Given the description of an element on the screen output the (x, y) to click on. 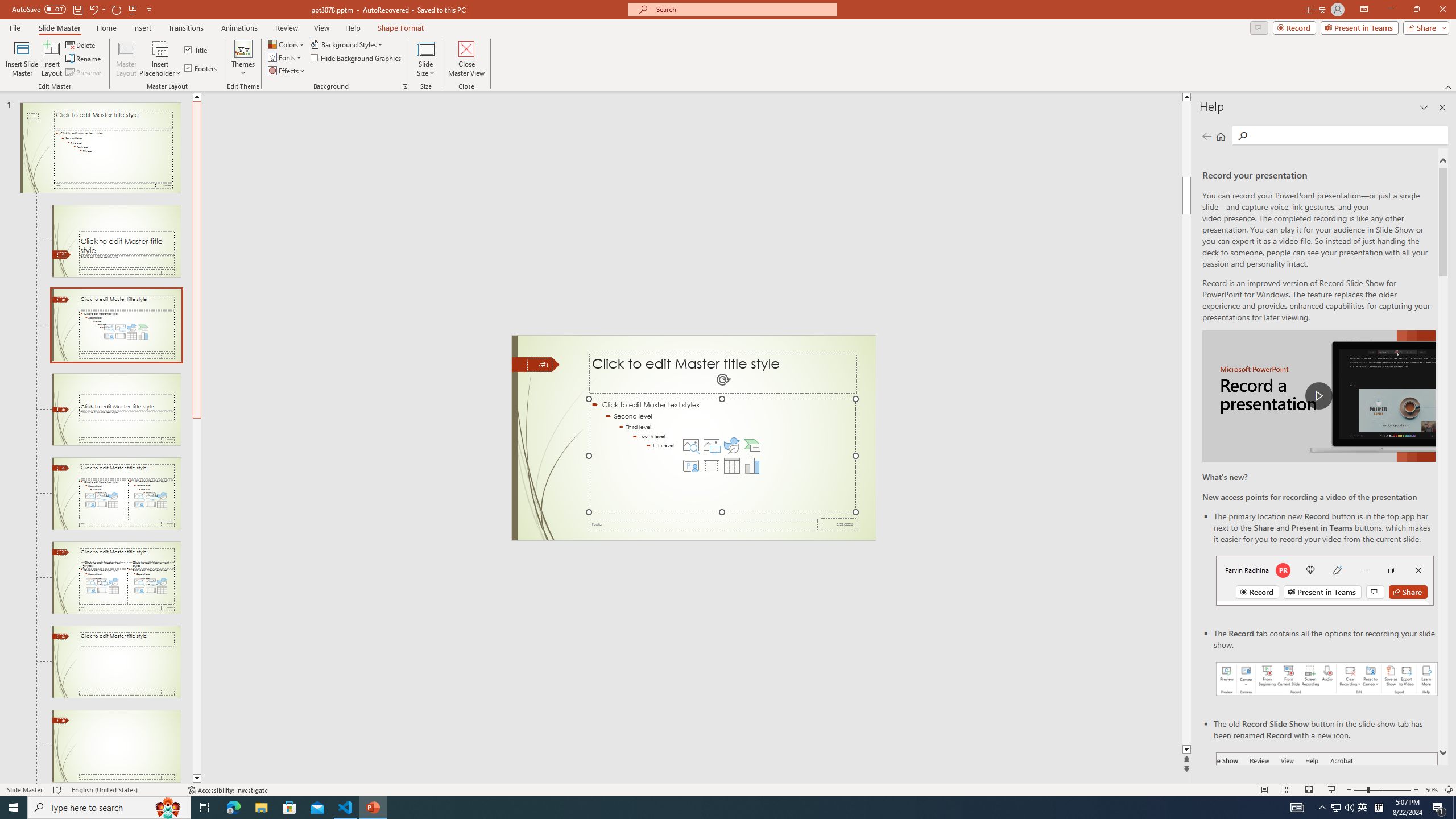
Previous page (1206, 136)
Title (196, 49)
Rename (84, 58)
Colors (287, 44)
Master Layout... (126, 58)
Insert an Icon (731, 445)
Line up (197, 96)
Microsoft search (742, 9)
Slide Title and Content Layout: used by no slides (116, 325)
